Given the description of an element on the screen output the (x, y) to click on. 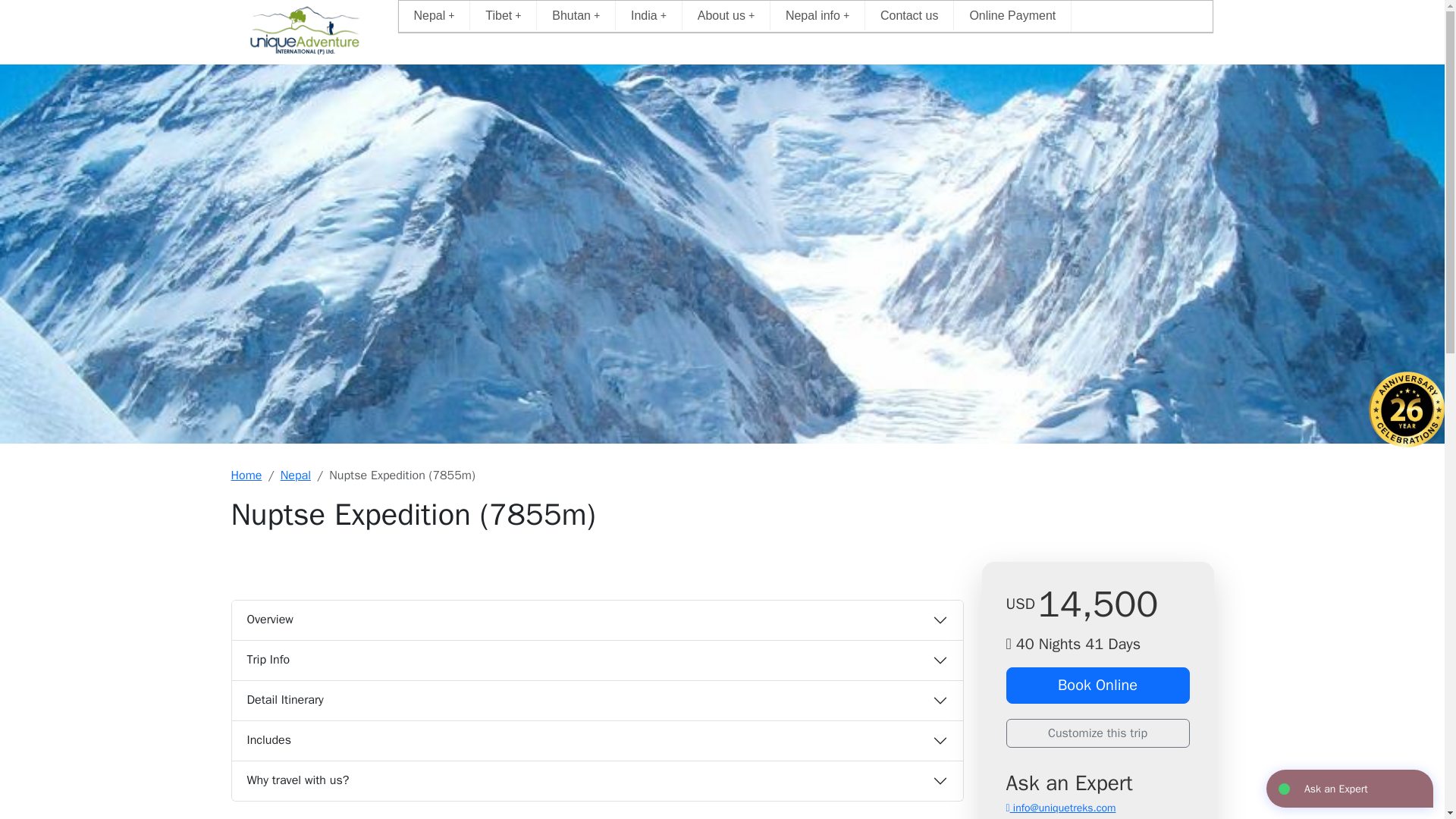
Home (304, 31)
Nepal (434, 15)
Nepal (434, 15)
